Given the description of an element on the screen output the (x, y) to click on. 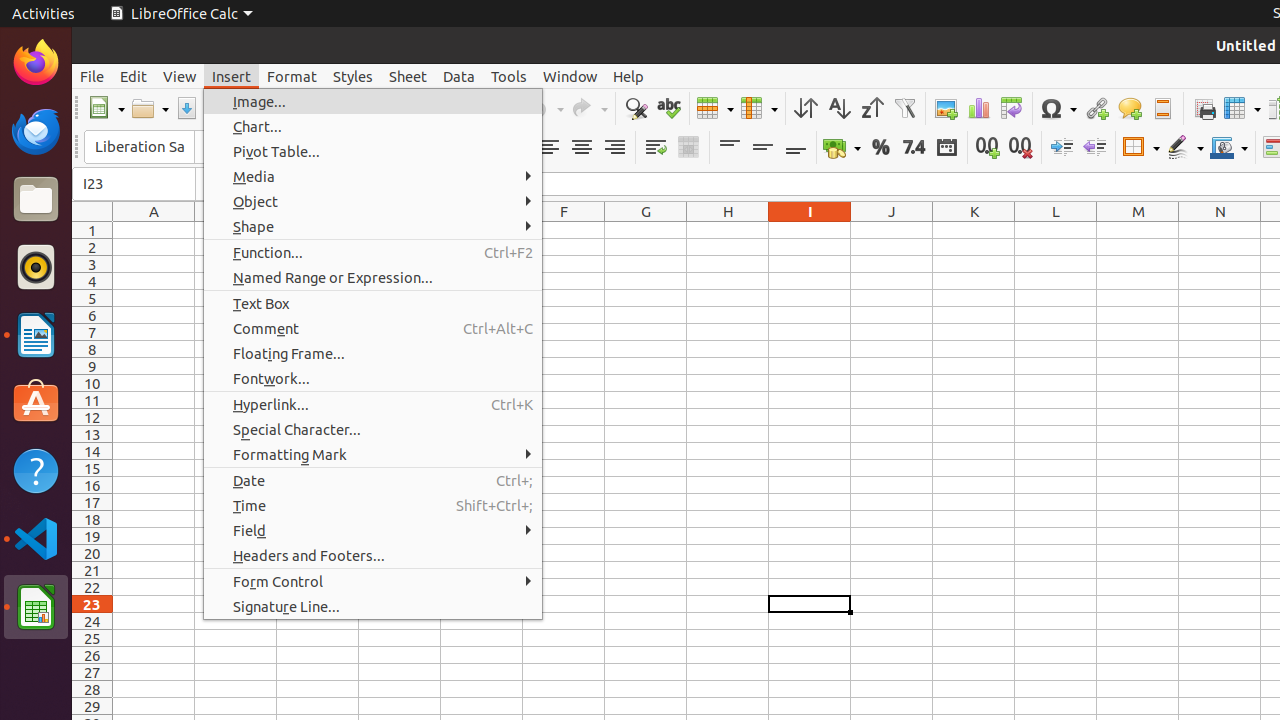
Center Vertically Element type: push-button (762, 147)
Wrap Text Element type: push-button (655, 147)
Pivot Table Element type: push-button (1011, 108)
Signature Line... Element type: menu-item (373, 606)
Date Element type: menu-item (373, 480)
